Given the description of an element on the screen output the (x, y) to click on. 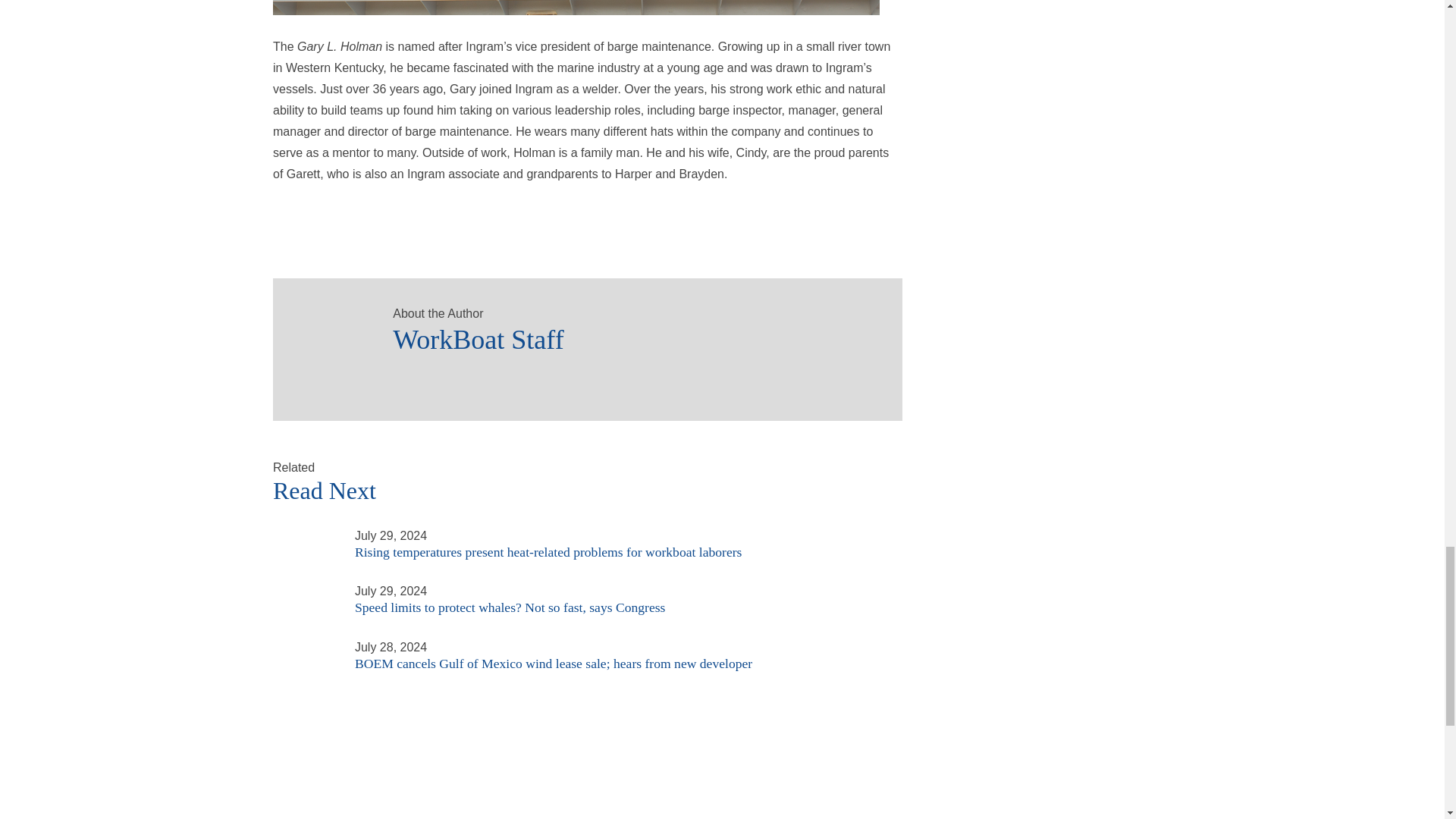
WorkBoat Staff (325, 330)
WorkBoat Staff (631, 335)
Speed limits to protect whales? Not so fast, says Congress (304, 589)
